Given the description of an element on the screen output the (x, y) to click on. 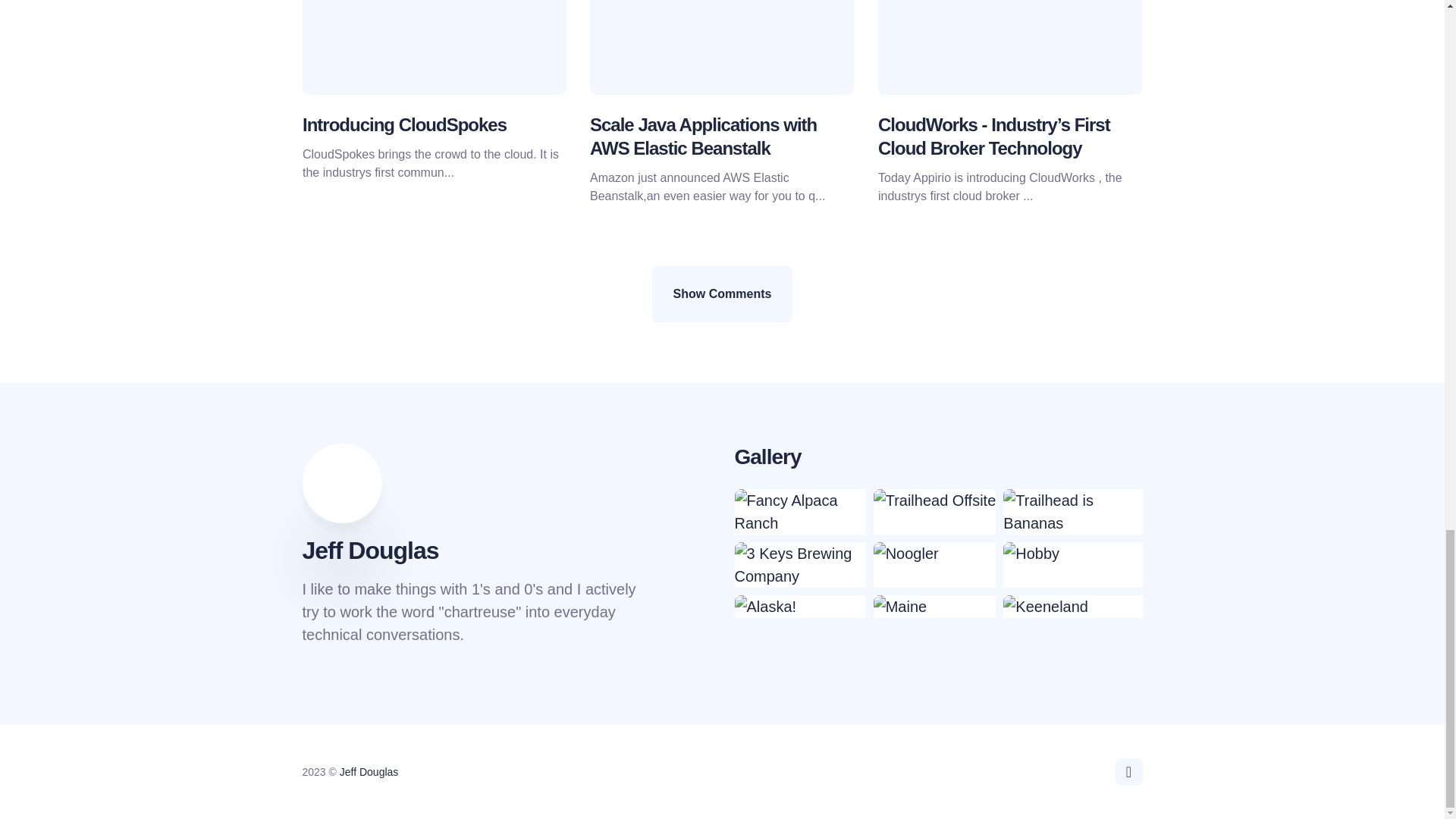
Show Comments (722, 294)
Scale Java Applications with AWS Elastic Beanstalk (702, 135)
Top (1128, 771)
Jeff Douglas (368, 771)
Introducing CloudSpokes (403, 123)
